Given the description of an element on the screen output the (x, y) to click on. 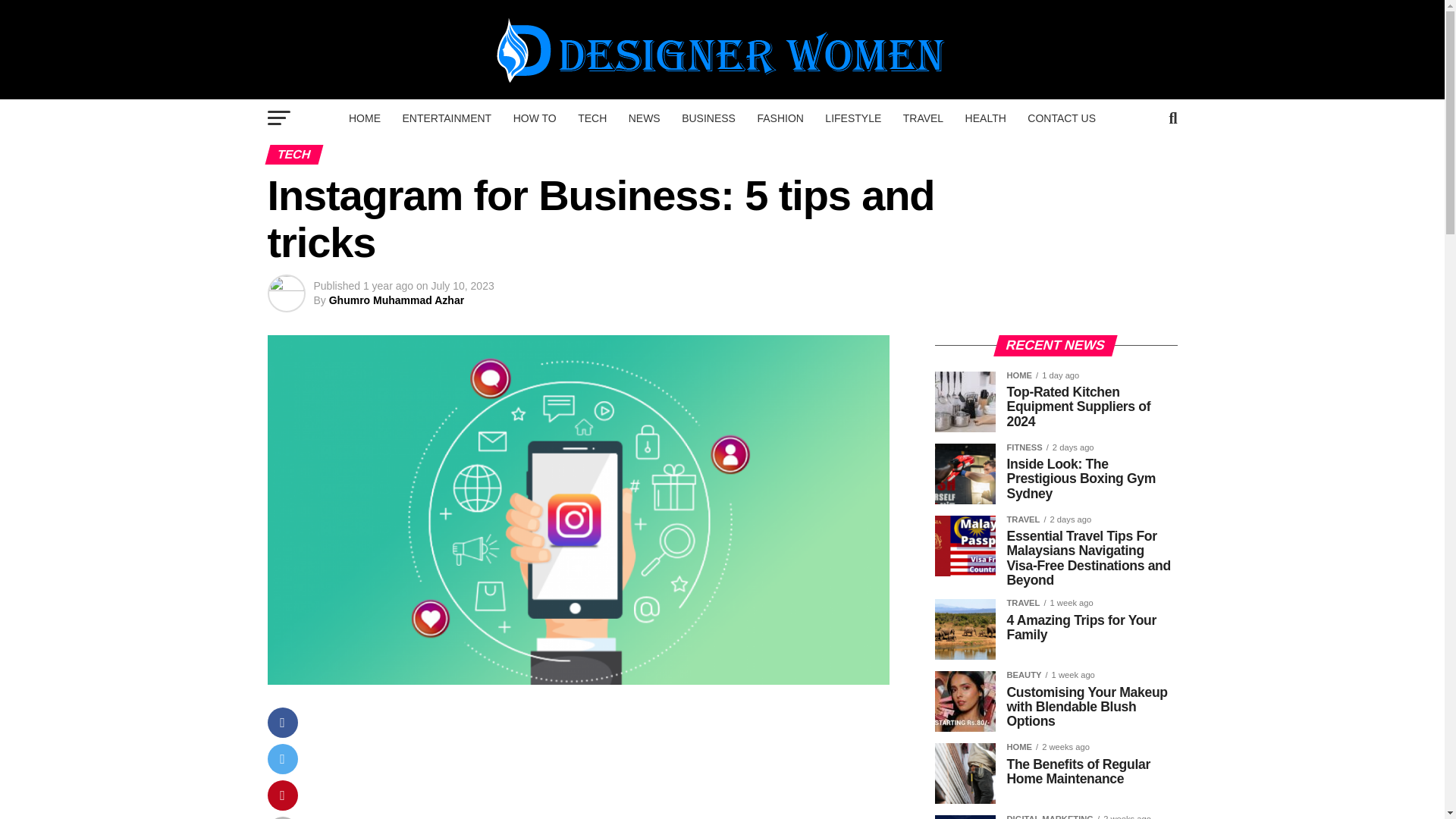
Advertisement (607, 763)
BUSINESS (708, 118)
TECH (592, 118)
NEWS (644, 118)
ENTERTAINMENT (446, 118)
Posts by Ghumro Muhammad Azhar (396, 300)
HOW TO (534, 118)
HOME (364, 118)
